Given the description of an element on the screen output the (x, y) to click on. 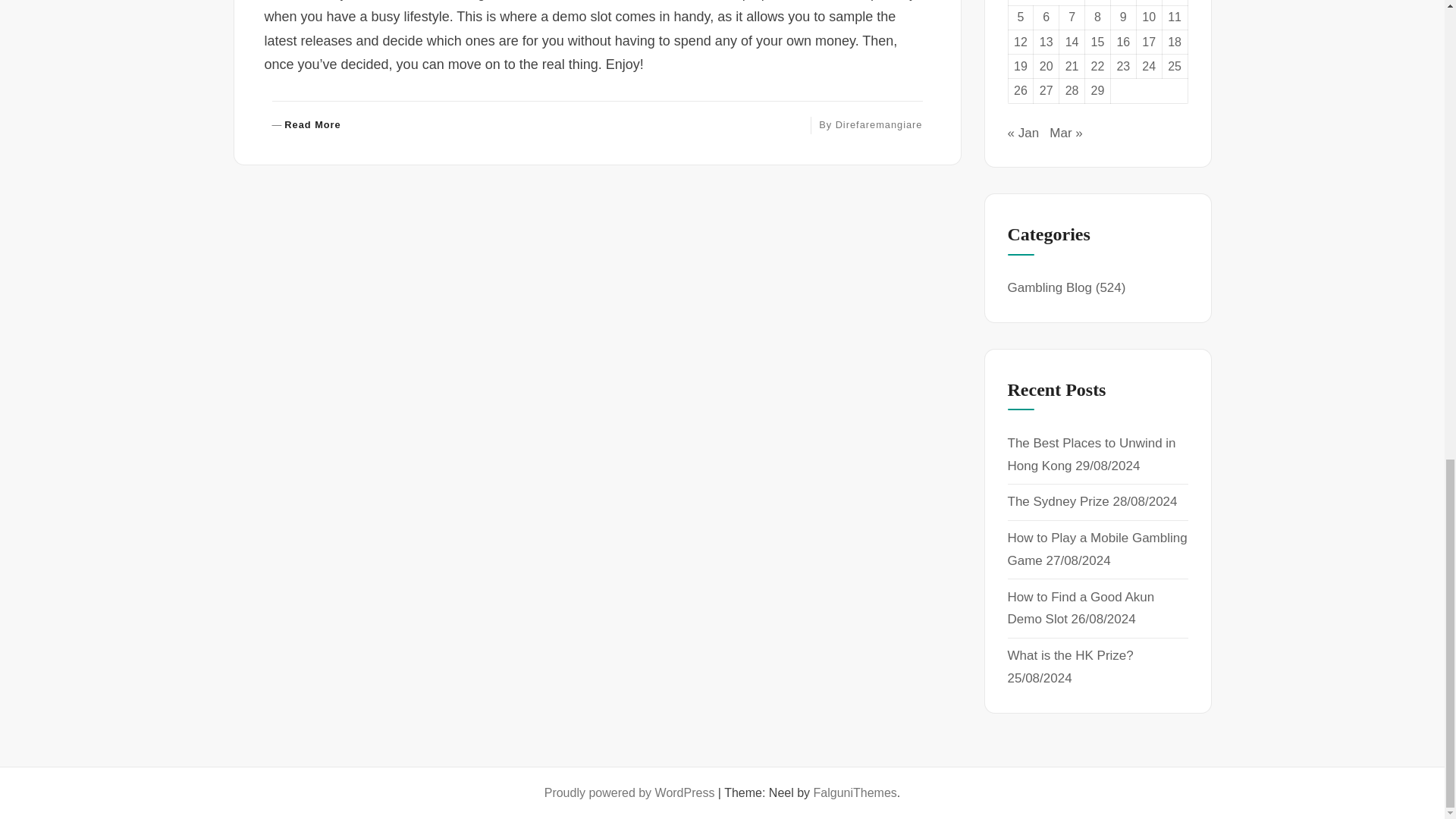
13 (1045, 42)
11 (1173, 16)
15 (1097, 42)
Direfaremangiare (305, 124)
12 (879, 124)
